Given the description of an element on the screen output the (x, y) to click on. 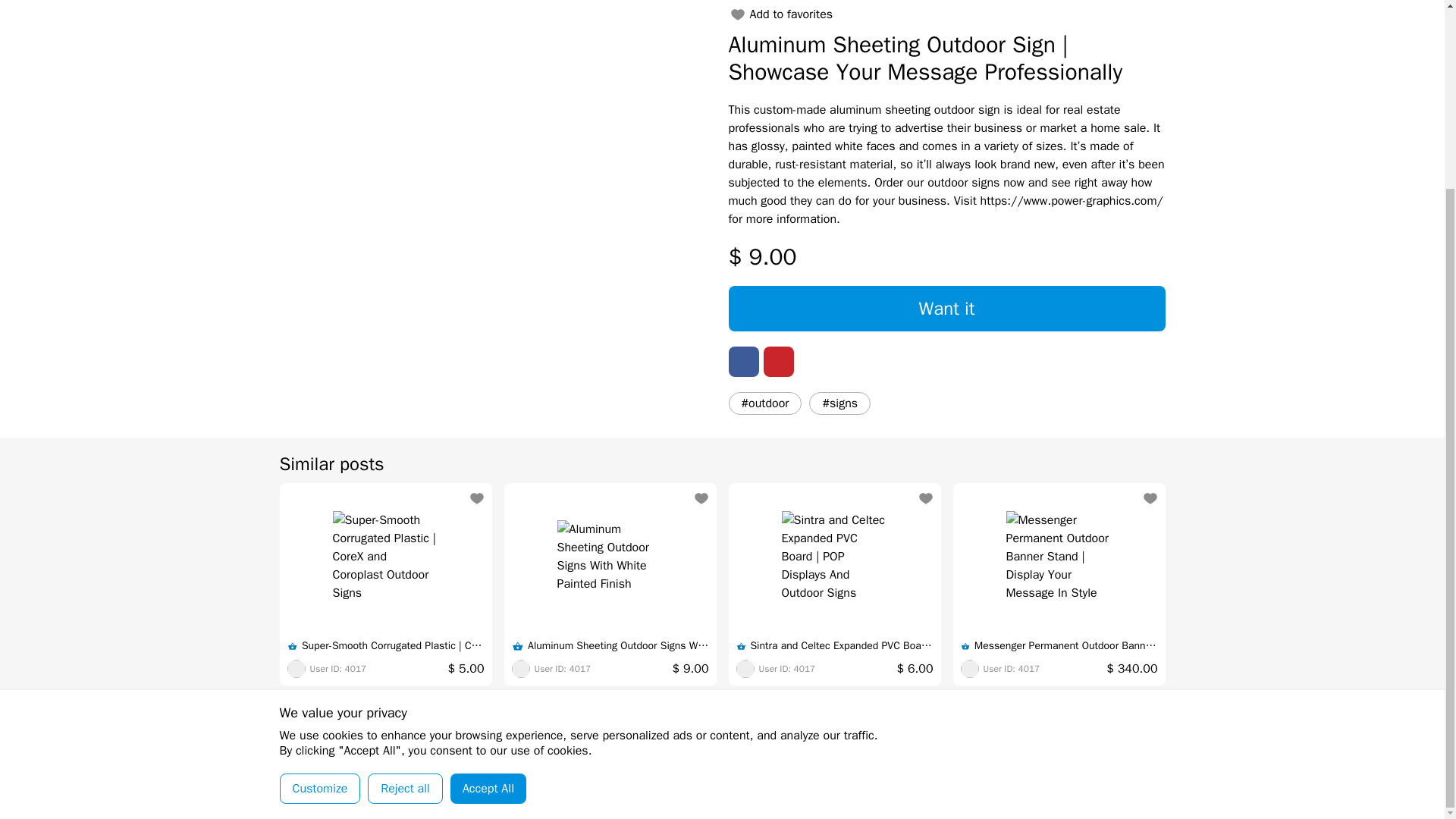
Add to favorites (780, 13)
Want it (946, 308)
